Given the description of an element on the screen output the (x, y) to click on. 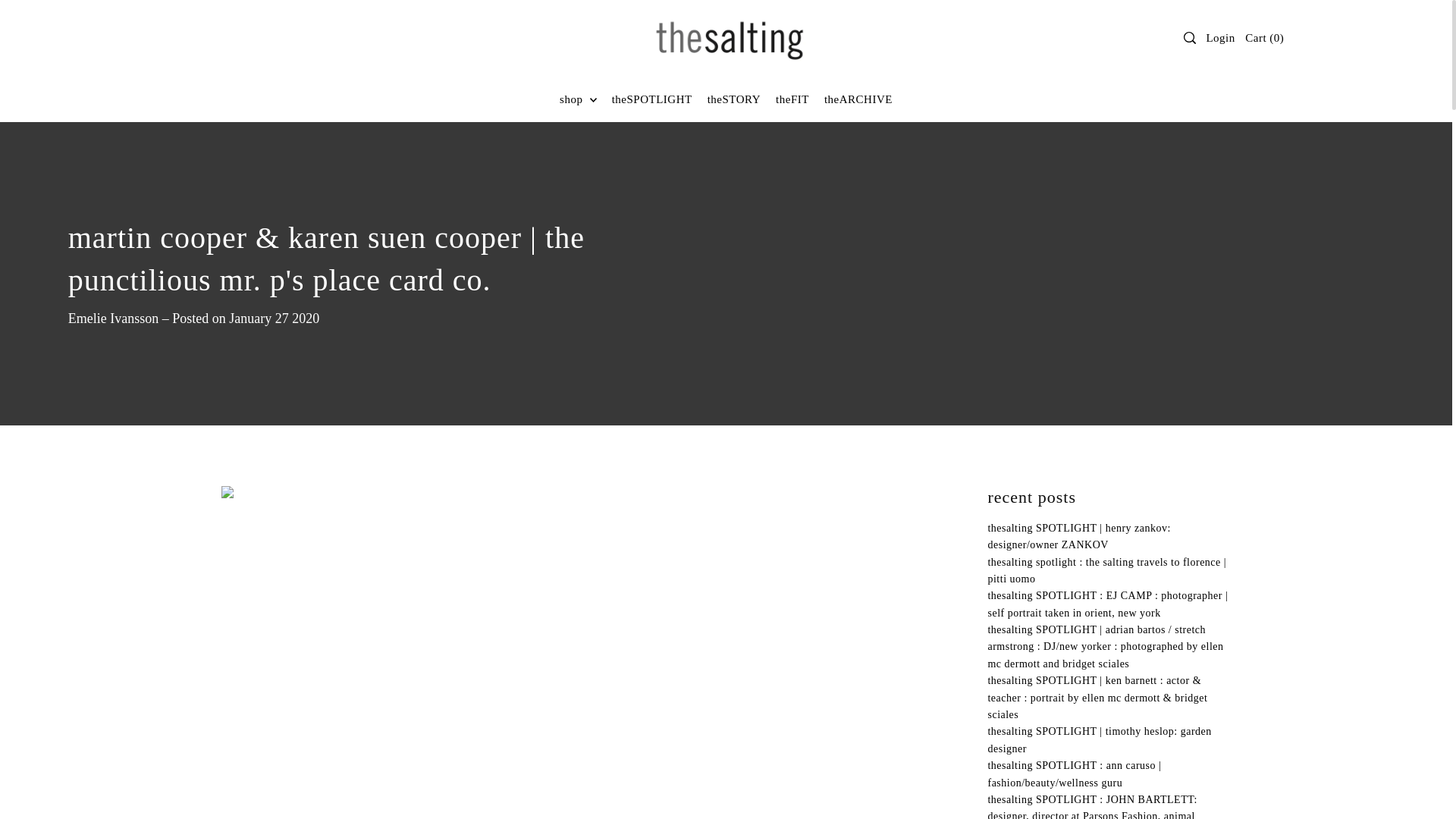
theSPOTLIGHT (652, 99)
theFIT (792, 99)
shop (577, 99)
theARCHIVE (857, 99)
Login (1220, 37)
theSTORY (734, 99)
